Given the description of an element on the screen output the (x, y) to click on. 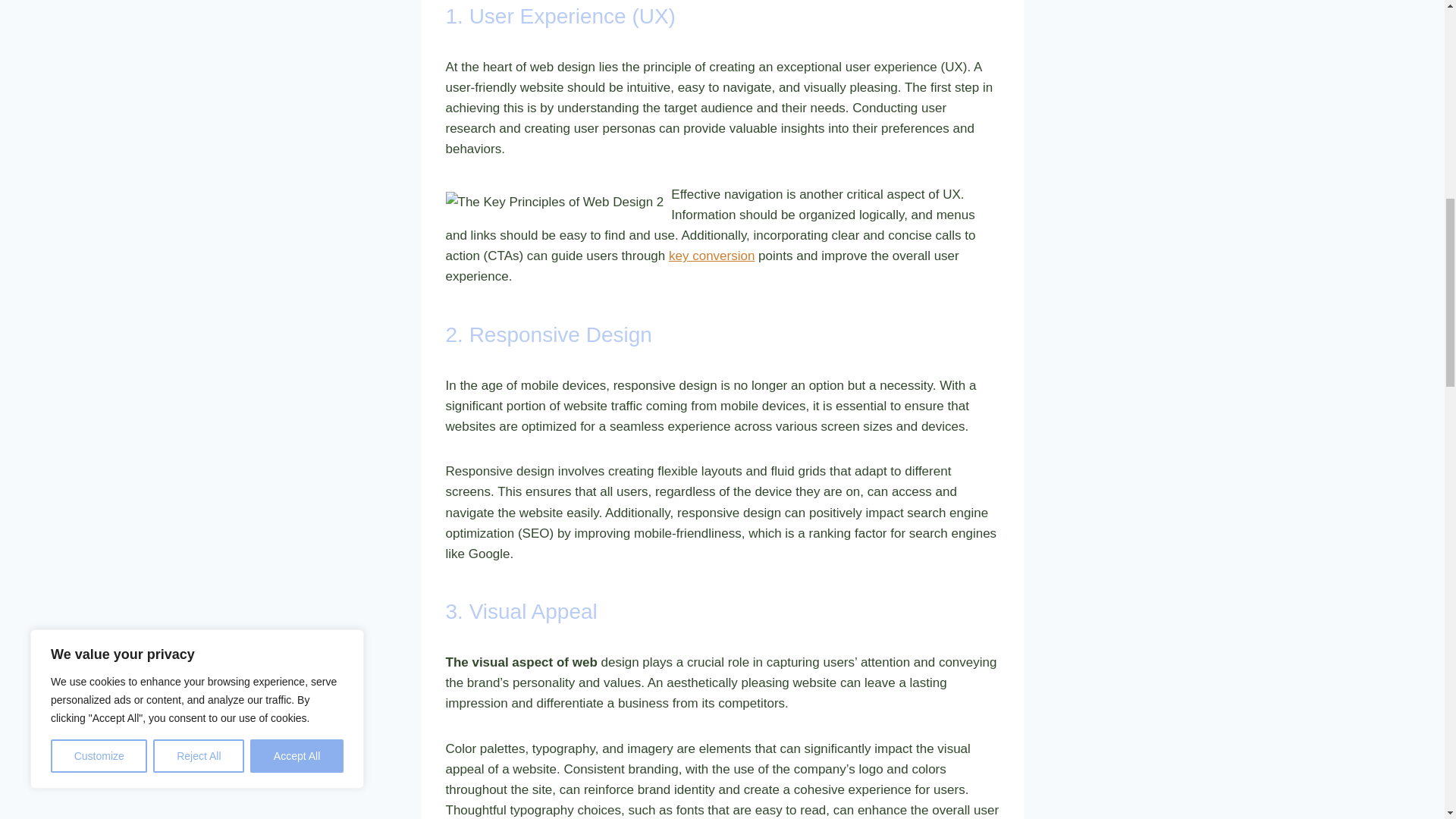
key conversion (711, 255)
